Given the description of an element on the screen output the (x, y) to click on. 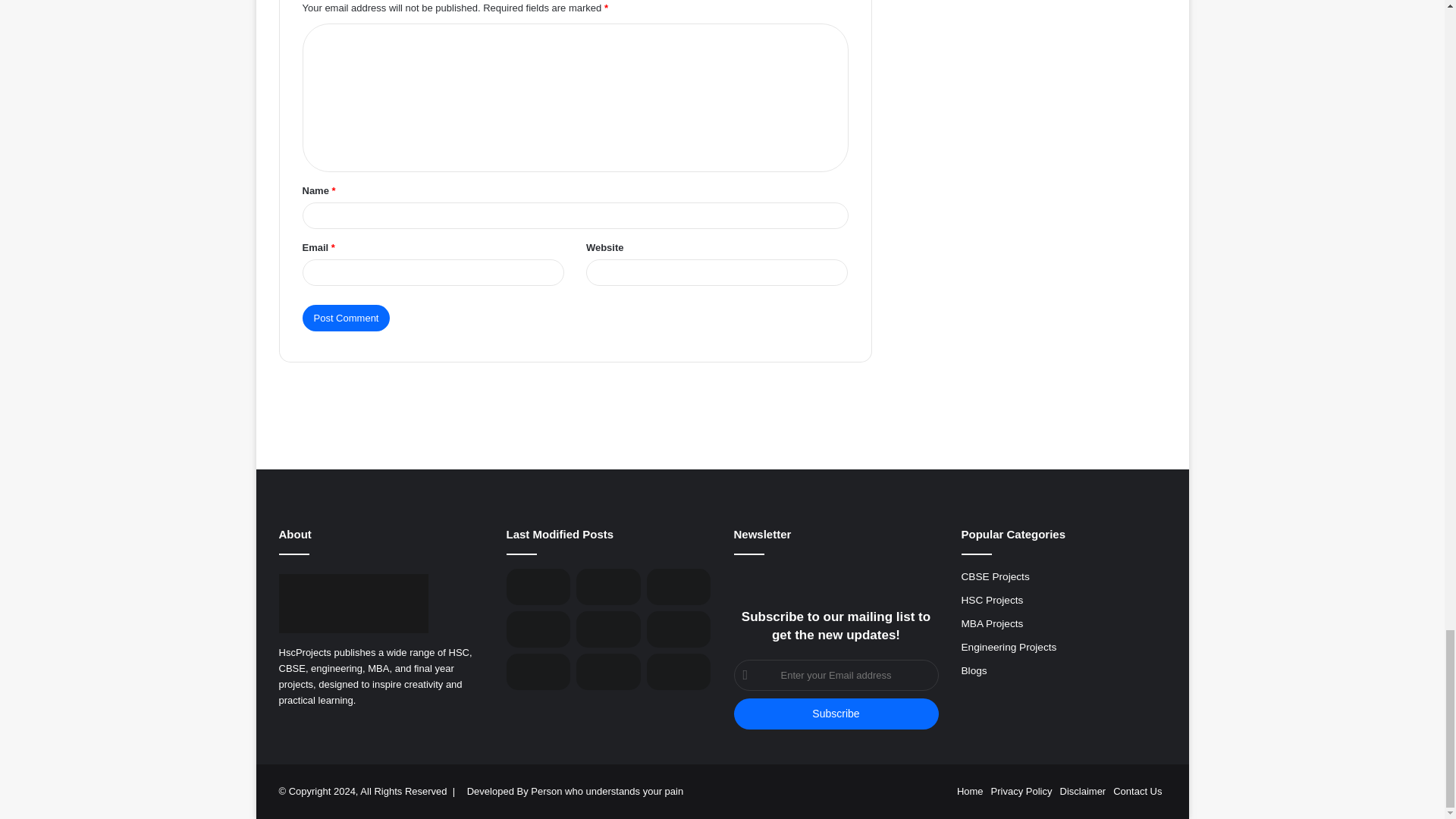
Subscribe (836, 713)
Post Comment (345, 317)
